Given the description of an element on the screen output the (x, y) to click on. 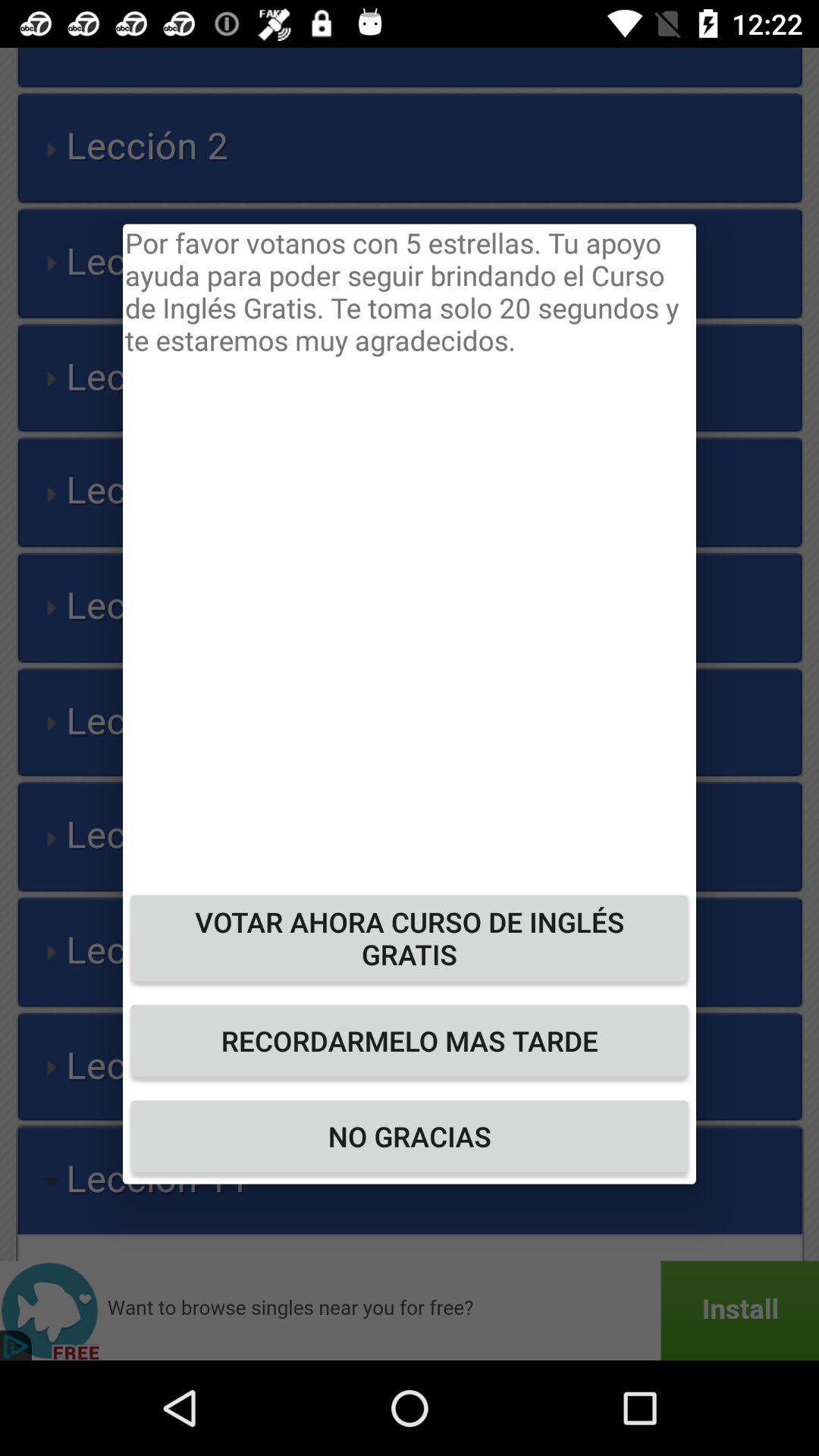
click no gracias (409, 1136)
